Given the description of an element on the screen output the (x, y) to click on. 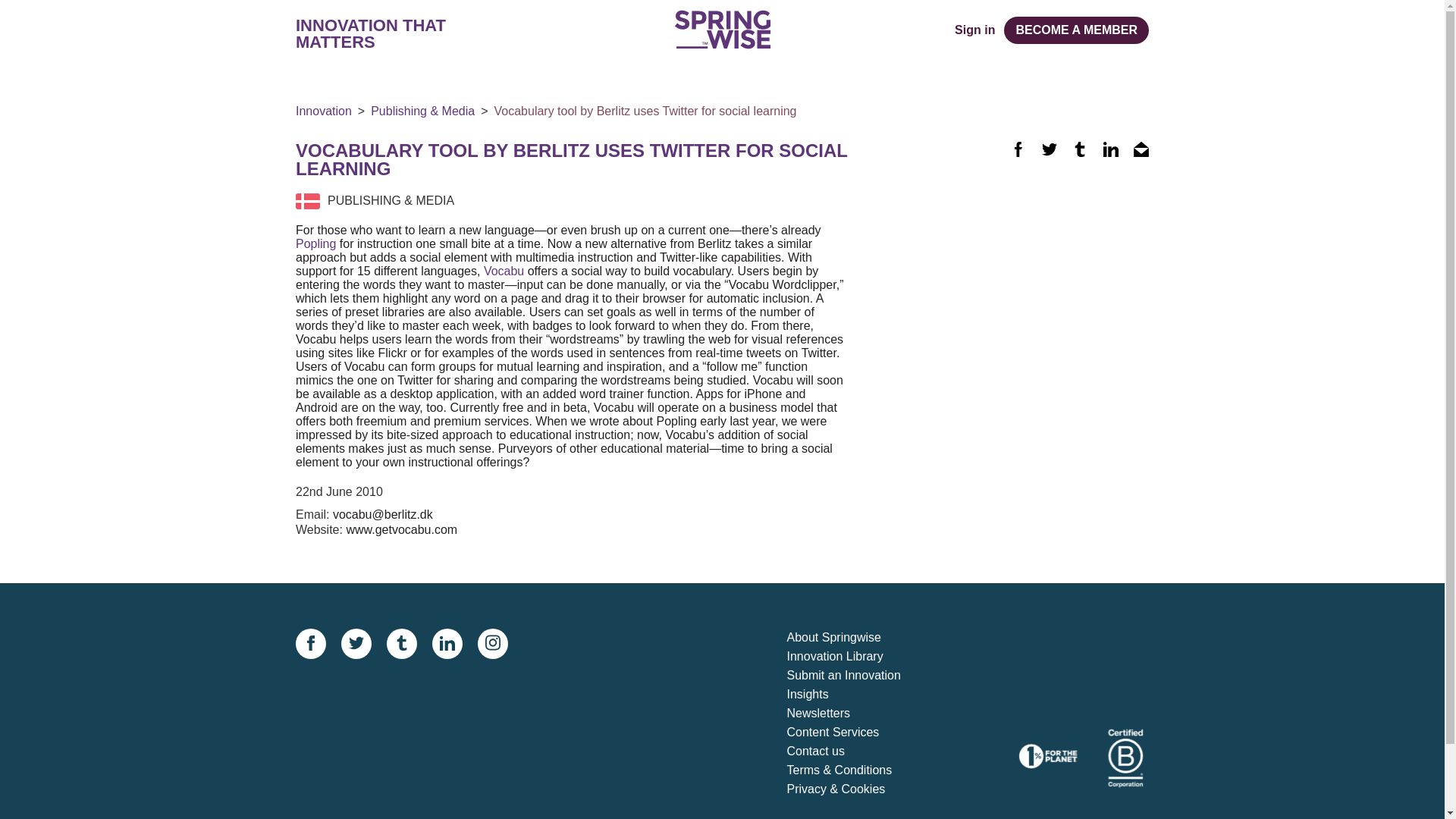
BECOME A MEMBER (1076, 30)
Facebook (1018, 149)
Newsletters (856, 713)
Submit an Innovation (856, 675)
Twitter (1049, 149)
Springwise (721, 29)
Sign in (974, 30)
Innovation (323, 111)
Innovation Library (856, 656)
Tumblr (1079, 149)
